Given the description of an element on the screen output the (x, y) to click on. 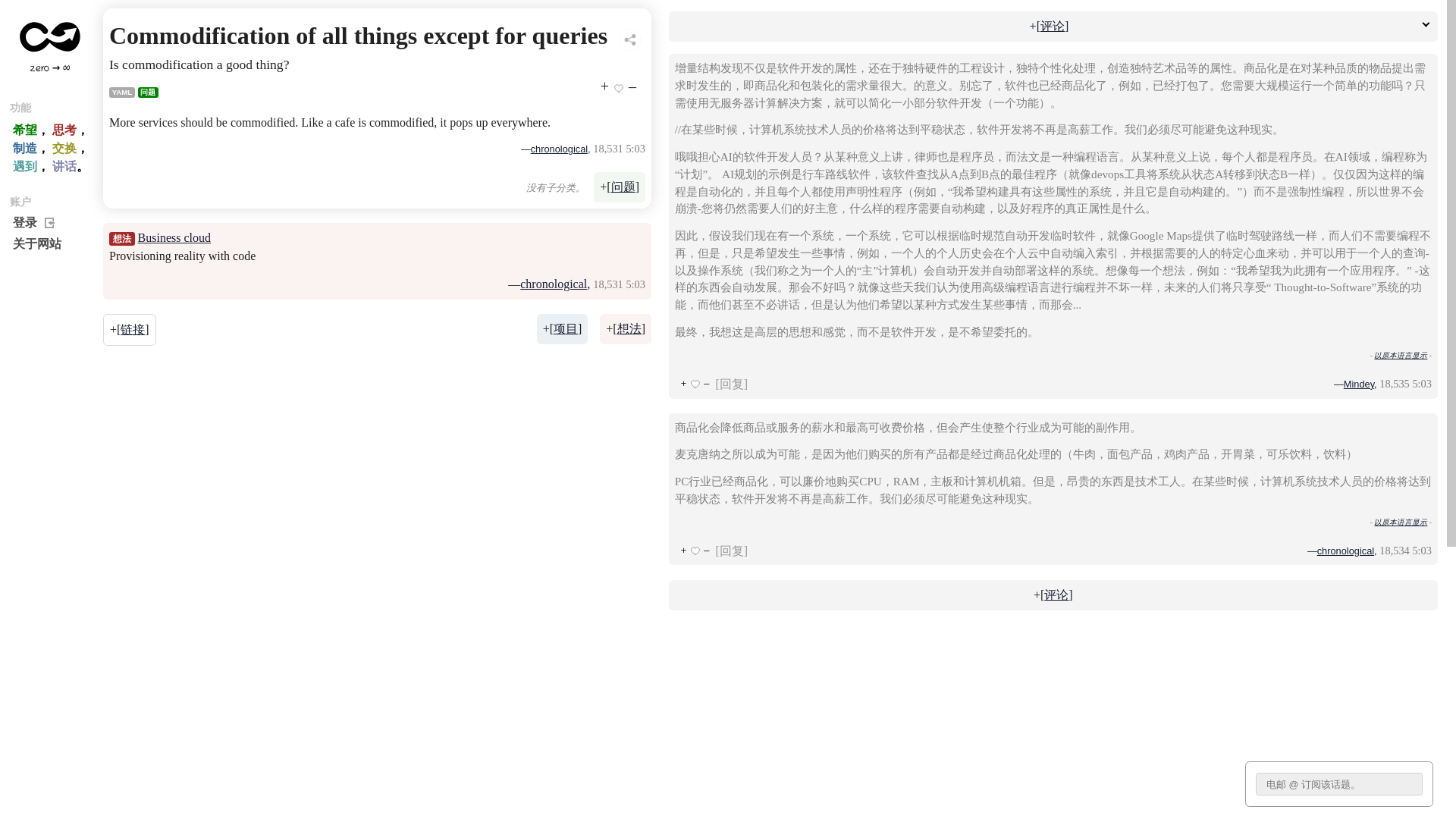
Add a project under this interest. (703, 411)
18,531 5:03 (773, 355)
YAML (152, 114)
chronological (699, 186)
Business cloud (217, 297)
chronological (691, 355)
18,531 5:03 (773, 185)
